Given the description of an element on the screen output the (x, y) to click on. 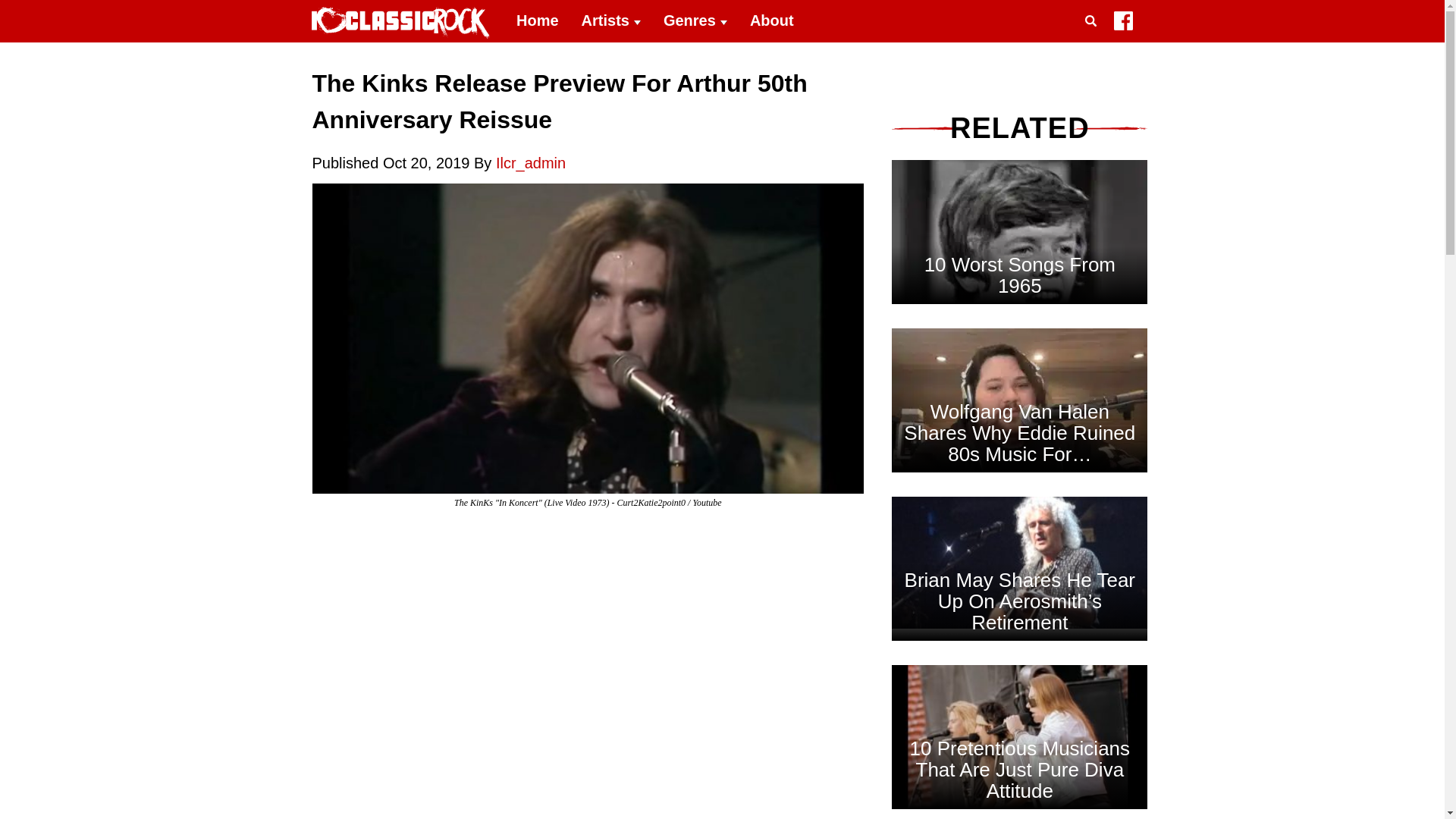
Search (1093, 39)
Search (1093, 39)
10 Worst Songs From 1965 (1019, 274)
Genres (695, 21)
About (771, 21)
Home (537, 21)
Artists (611, 21)
I Love Classic Rock on Facebook (1122, 24)
10 Worst Songs From 1965 (1019, 324)
